Given the description of an element on the screen output the (x, y) to click on. 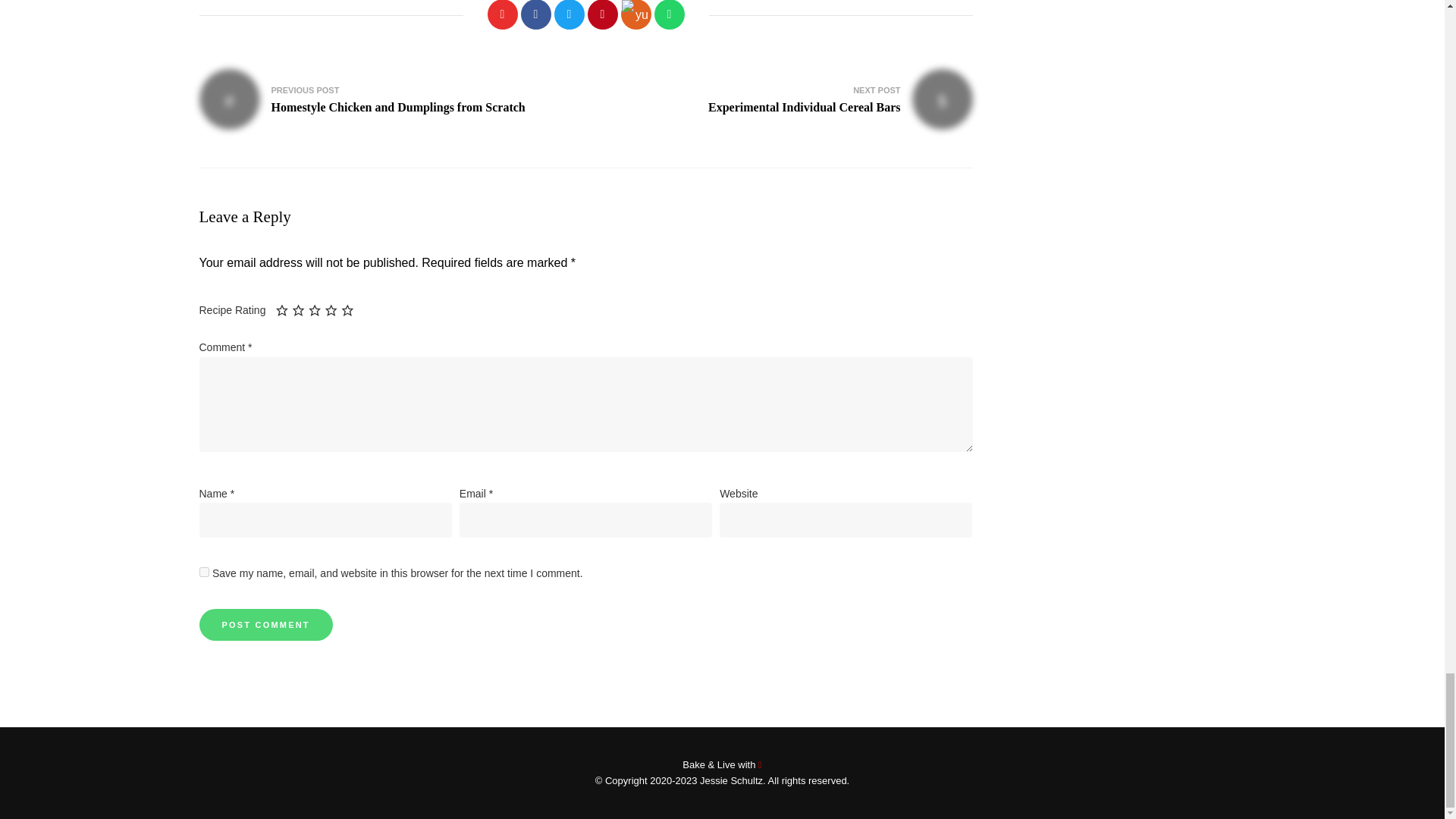
WhatsApp (668, 14)
Post Comment (264, 624)
Twitter (785, 98)
Like (568, 14)
Pinterest (501, 14)
Yummly (601, 14)
Facebook (635, 14)
yes (384, 98)
Post Comment (534, 14)
